Given the description of an element on the screen output the (x, y) to click on. 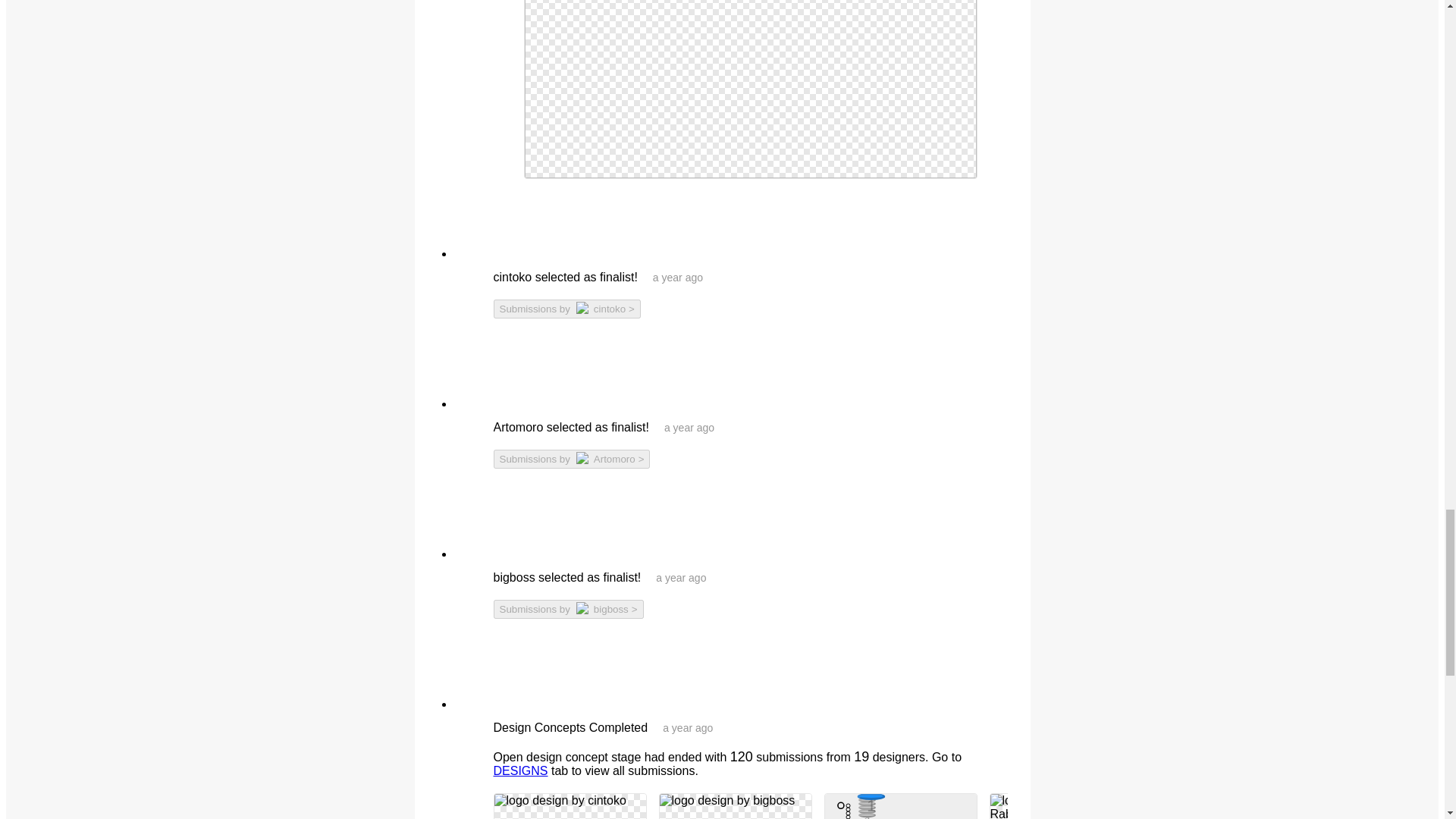
1 (866, 795)
4 (867, 807)
DESIGNS (520, 770)
3 (867, 803)
6 (867, 815)
5 (867, 811)
2 (867, 799)
